Given the description of an element on the screen output the (x, y) to click on. 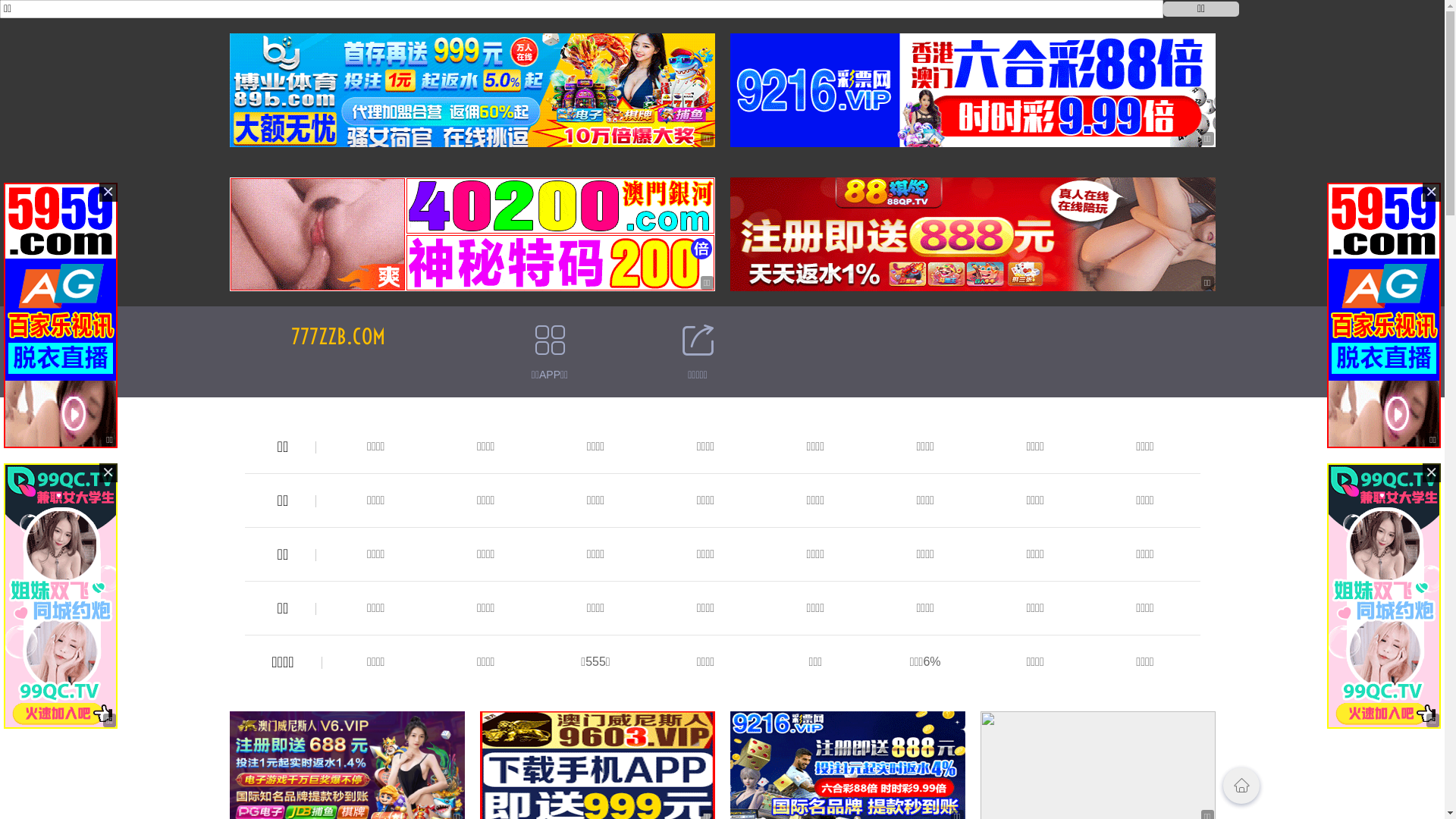
777ZZB.COM Element type: text (338, 336)
